Given the description of an element on the screen output the (x, y) to click on. 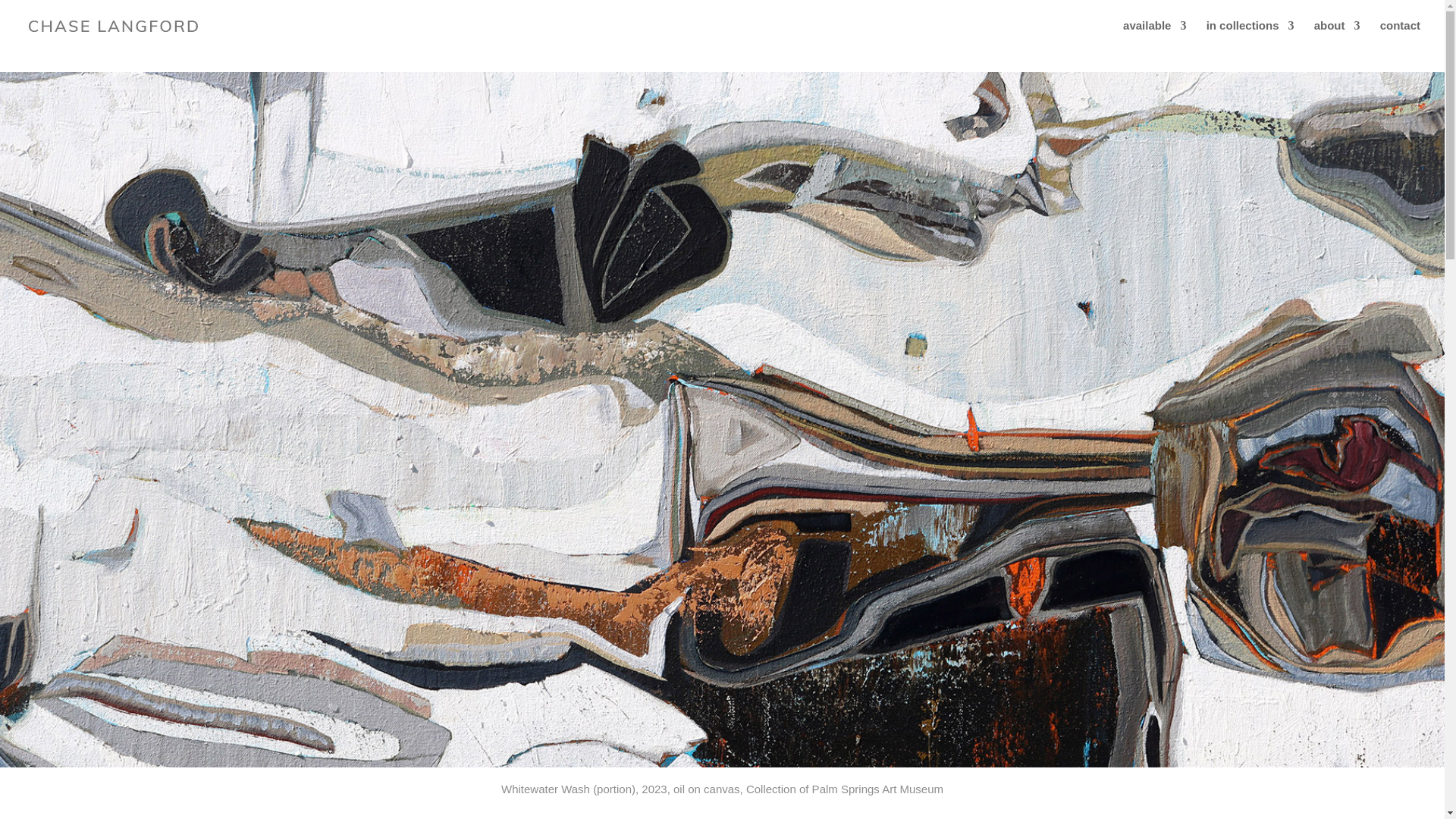
about (1336, 35)
available (1154, 35)
contact (1400, 35)
in collections (1250, 35)
